Given the description of an element on the screen output the (x, y) to click on. 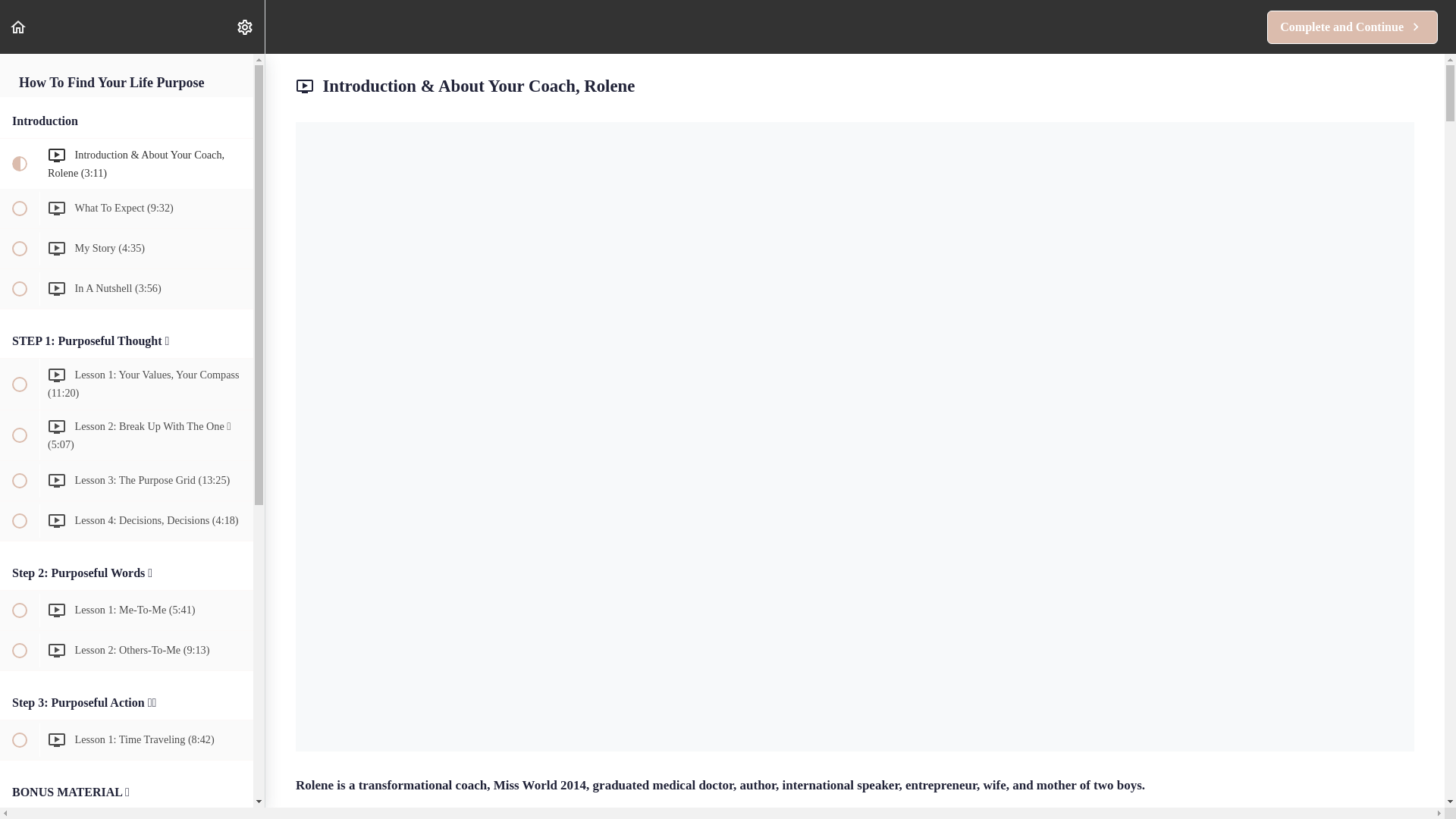
Back to course curriculum (17, 27)
Video Player (1352, 27)
